Given the description of an element on the screen output the (x, y) to click on. 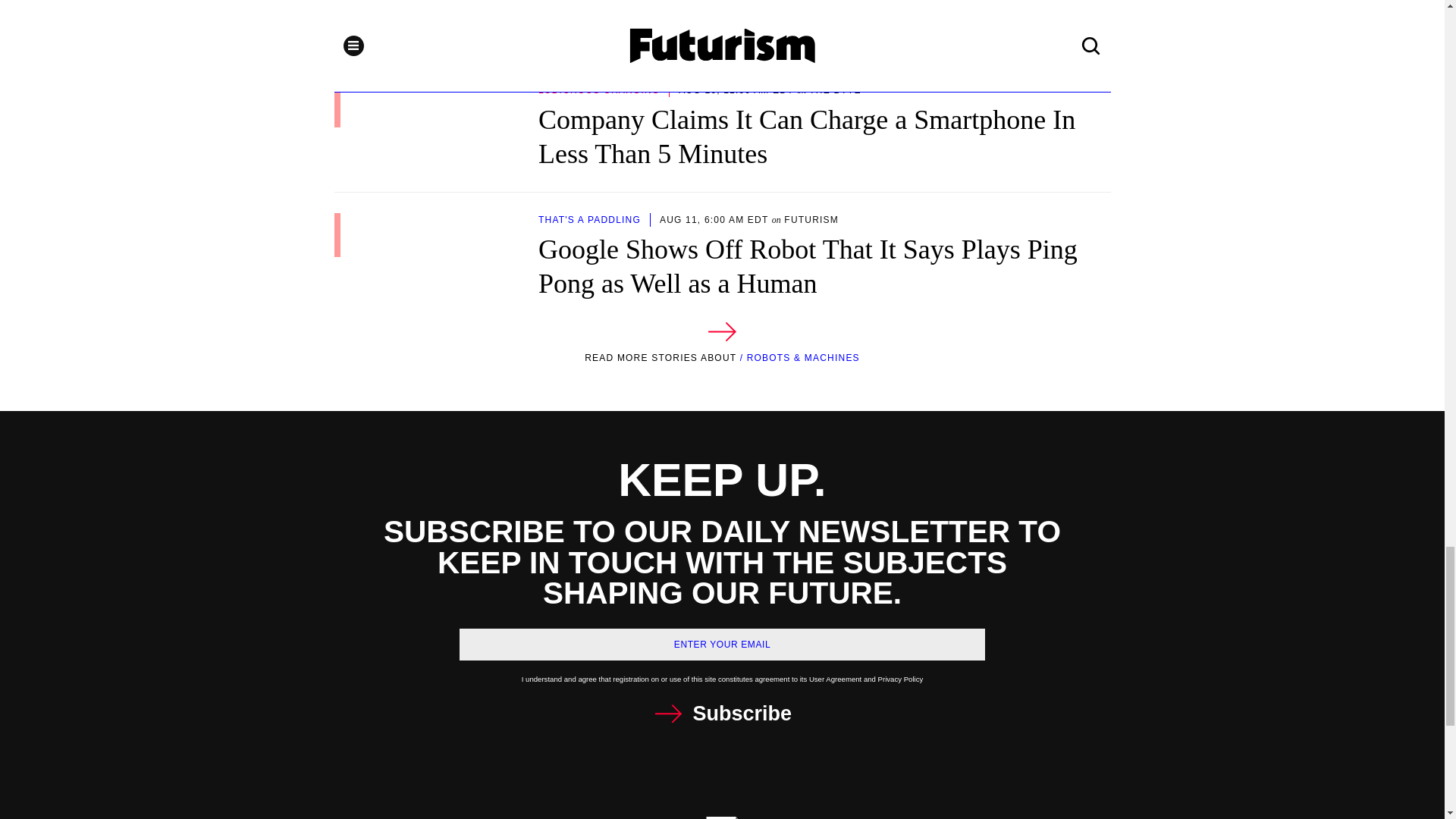
Ukraine Is Getting Ready to Unleash a Swarm of Robot Dogs (721, 20)
Subscribe (722, 713)
